Given the description of an element on the screen output the (x, y) to click on. 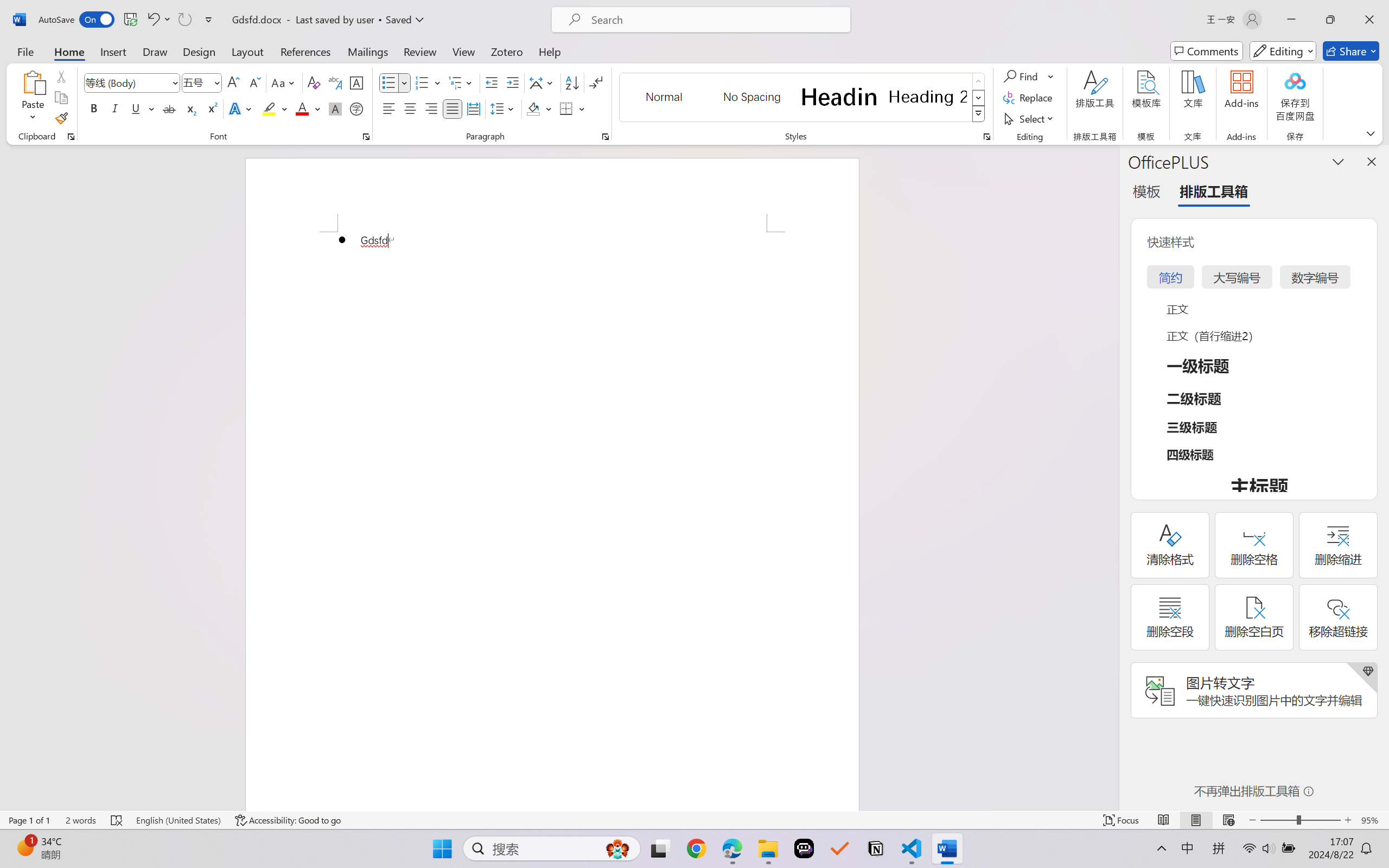
AutomationID: QuickStylesGallery (802, 97)
